Given the description of an element on the screen output the (x, y) to click on. 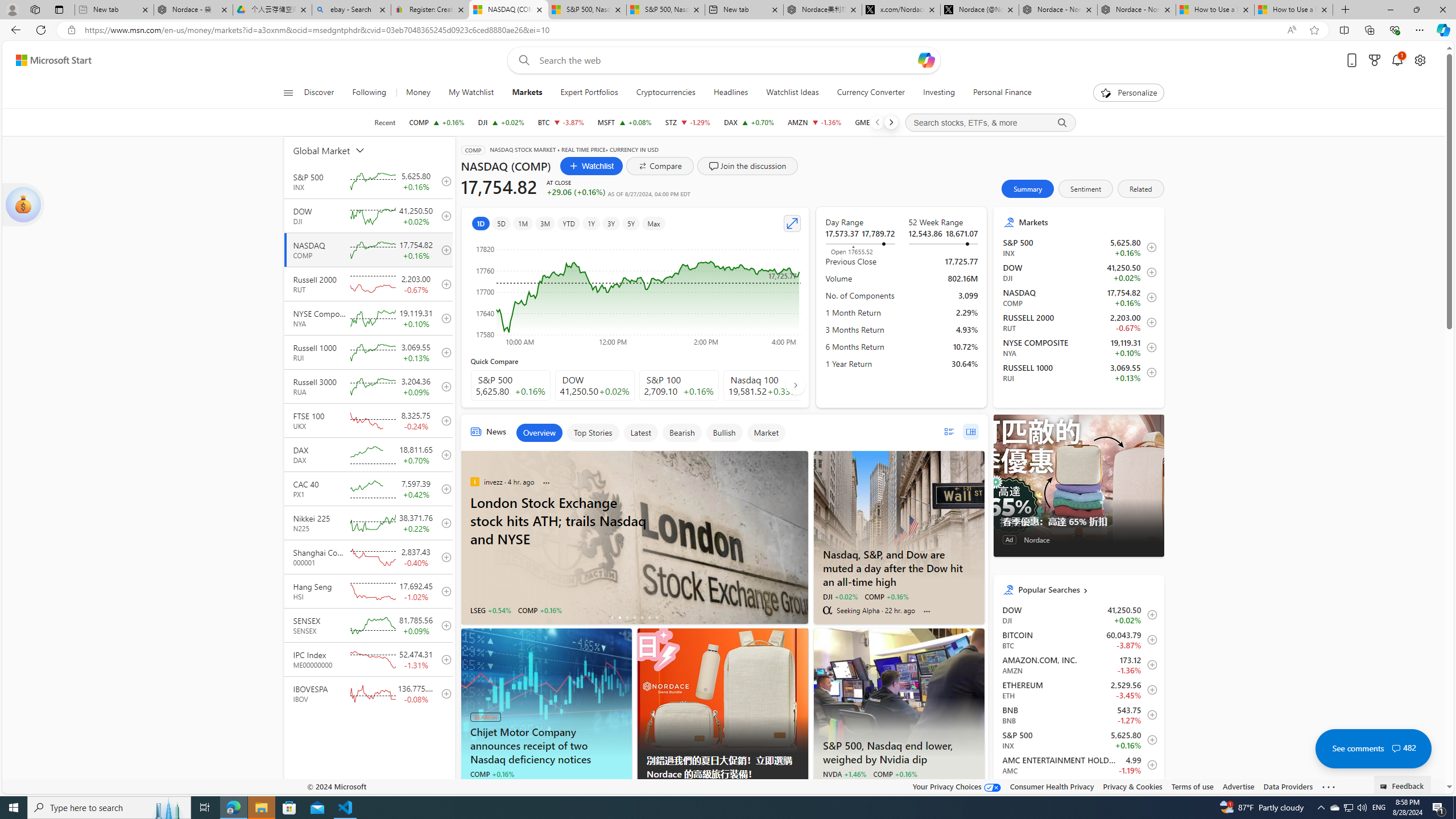
5D (501, 223)
Watchlist Ideas (792, 92)
Investing (937, 92)
YTD (568, 223)
Skip to footer (46, 59)
Related (1140, 188)
Advertise (1238, 785)
Reuters (826, 786)
